Given the description of an element on the screen output the (x, y) to click on. 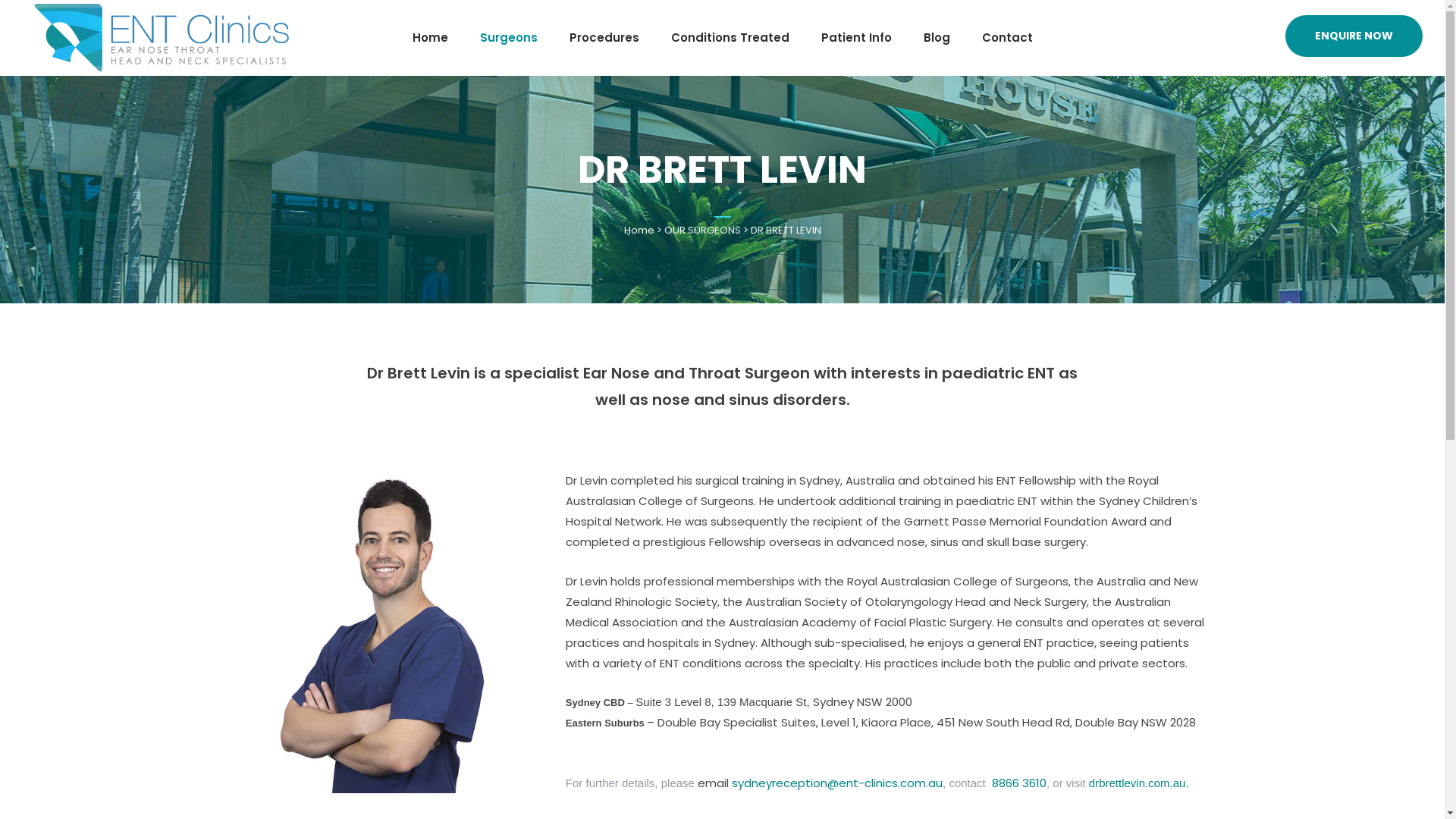
Contact Element type: text (1007, 37)
Home Element type: text (429, 37)
Patient Info Element type: text (856, 37)
 8866 3610 Element type: text (1017, 782)
sydneyreception@ent-clinics.com.au Element type: text (836, 782)
Surgeons Element type: text (508, 37)
drbrettlevin.com.au Element type: text (1137, 782)
OUR SURGEONS Element type: text (702, 229)
Procedures Element type: text (604, 37)
Blog Element type: text (935, 37)
Conditions Treated Element type: text (730, 37)
Home Element type: text (638, 229)
